Given the description of an element on the screen output the (x, y) to click on. 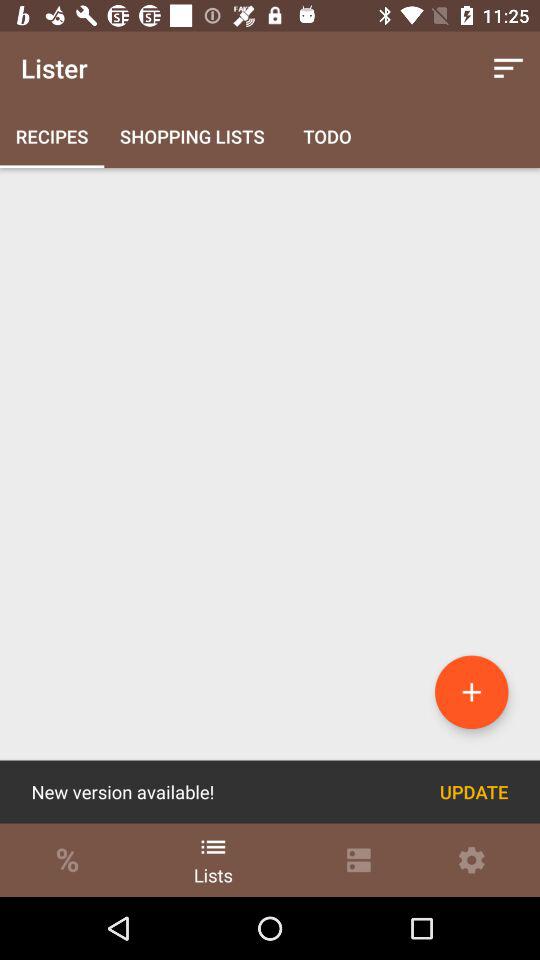
flip until the update icon (474, 791)
